Given the description of an element on the screen output the (x, y) to click on. 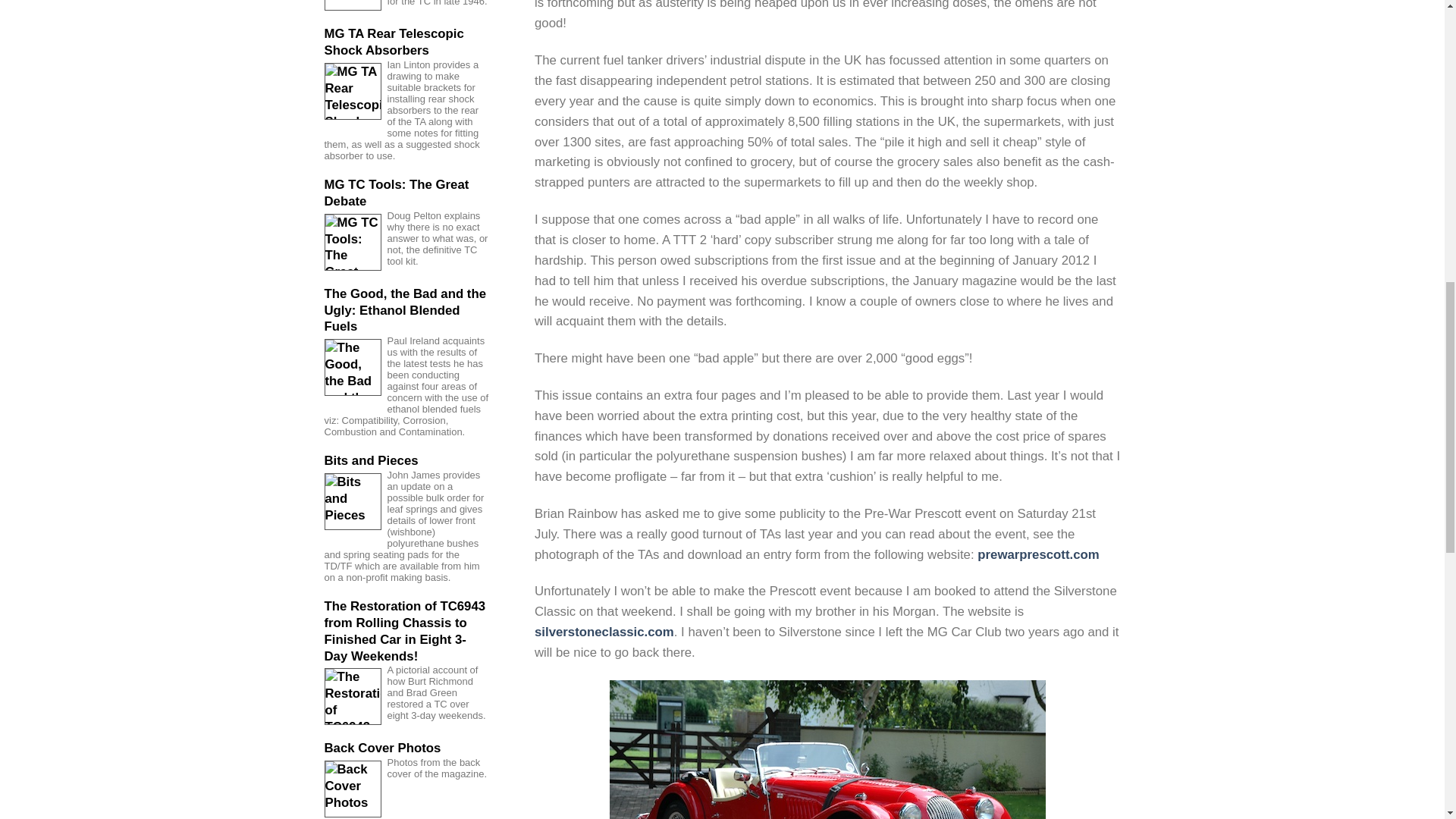
Bits and Pieces (406, 460)
The Good, the Bad and the Ugly: Ethanol Blended Fuels (406, 309)
prewarprescott.com (1037, 554)
MG TA Rear Telescopic Shock Absorbers (406, 41)
silverstoneclassic.com (604, 631)
MG TC Tools: The Great Debate (406, 192)
Back Cover Photos (406, 748)
prewarprescott.com (1037, 554)
silverstoneclassic.com (604, 631)
